Given the description of an element on the screen output the (x, y) to click on. 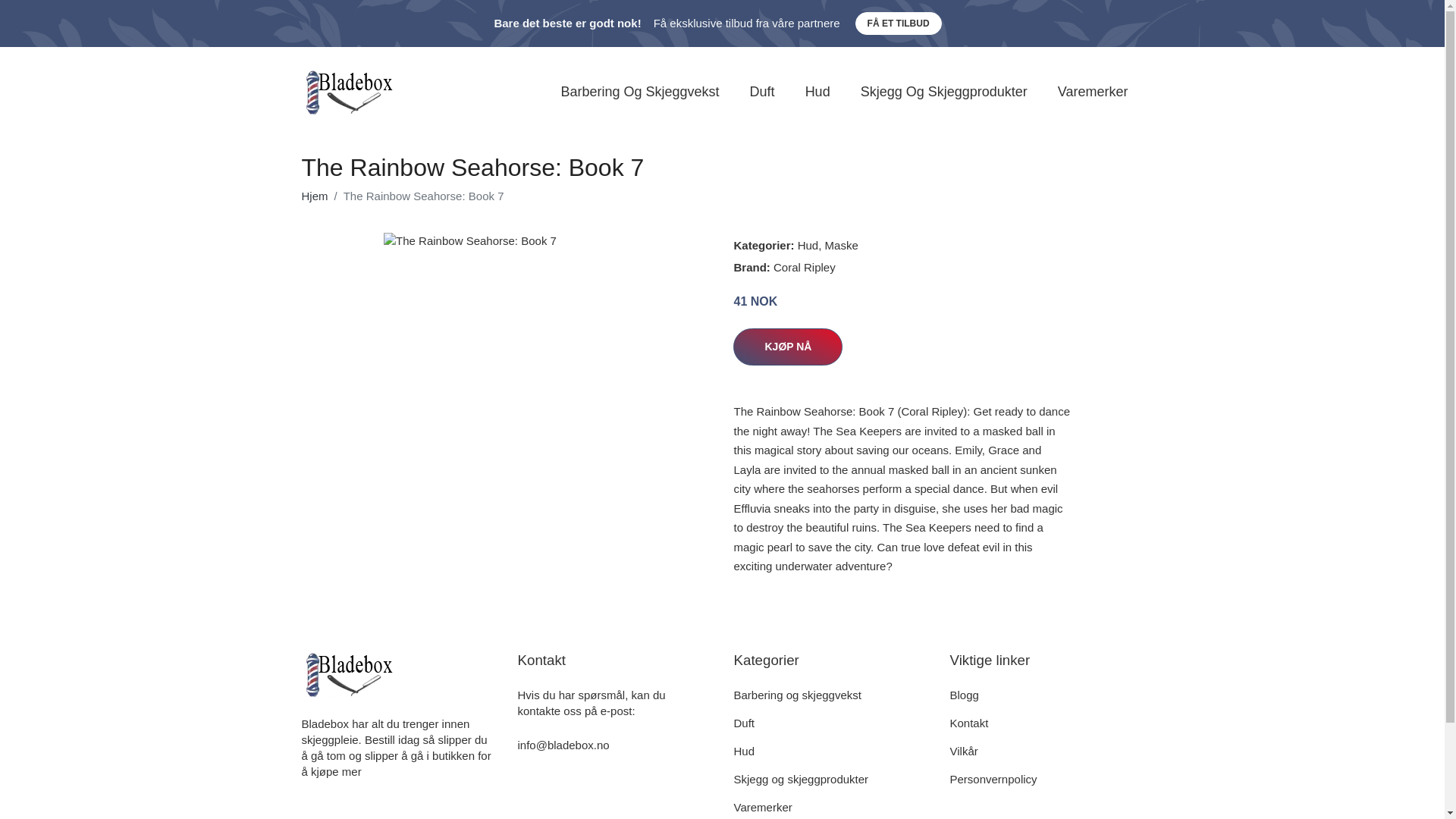
Hud (817, 92)
Barbering og skjeggvekst (797, 694)
Varemerker (1092, 92)
Personvernpolicy (992, 779)
Skjegg Og Skjeggprodukter (943, 92)
Hud (807, 245)
Duft (744, 722)
Maske (842, 245)
Hjem (315, 195)
Hud (744, 750)
